Given the description of an element on the screen output the (x, y) to click on. 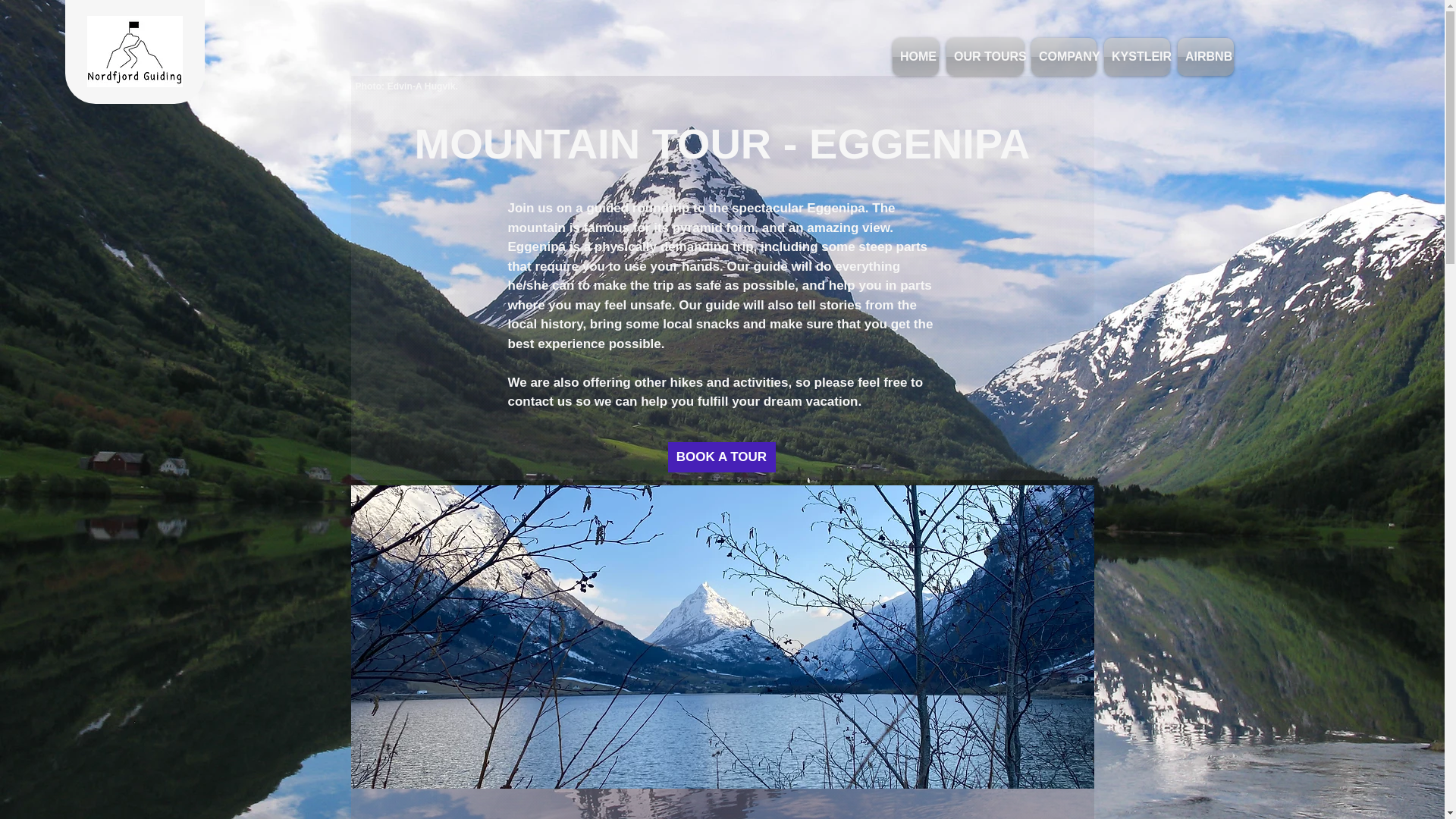
HOME (917, 56)
KYSTLEIR (1136, 56)
AIRBNB (1205, 56)
BOOK A TOUR (720, 456)
